Given the description of an element on the screen output the (x, y) to click on. 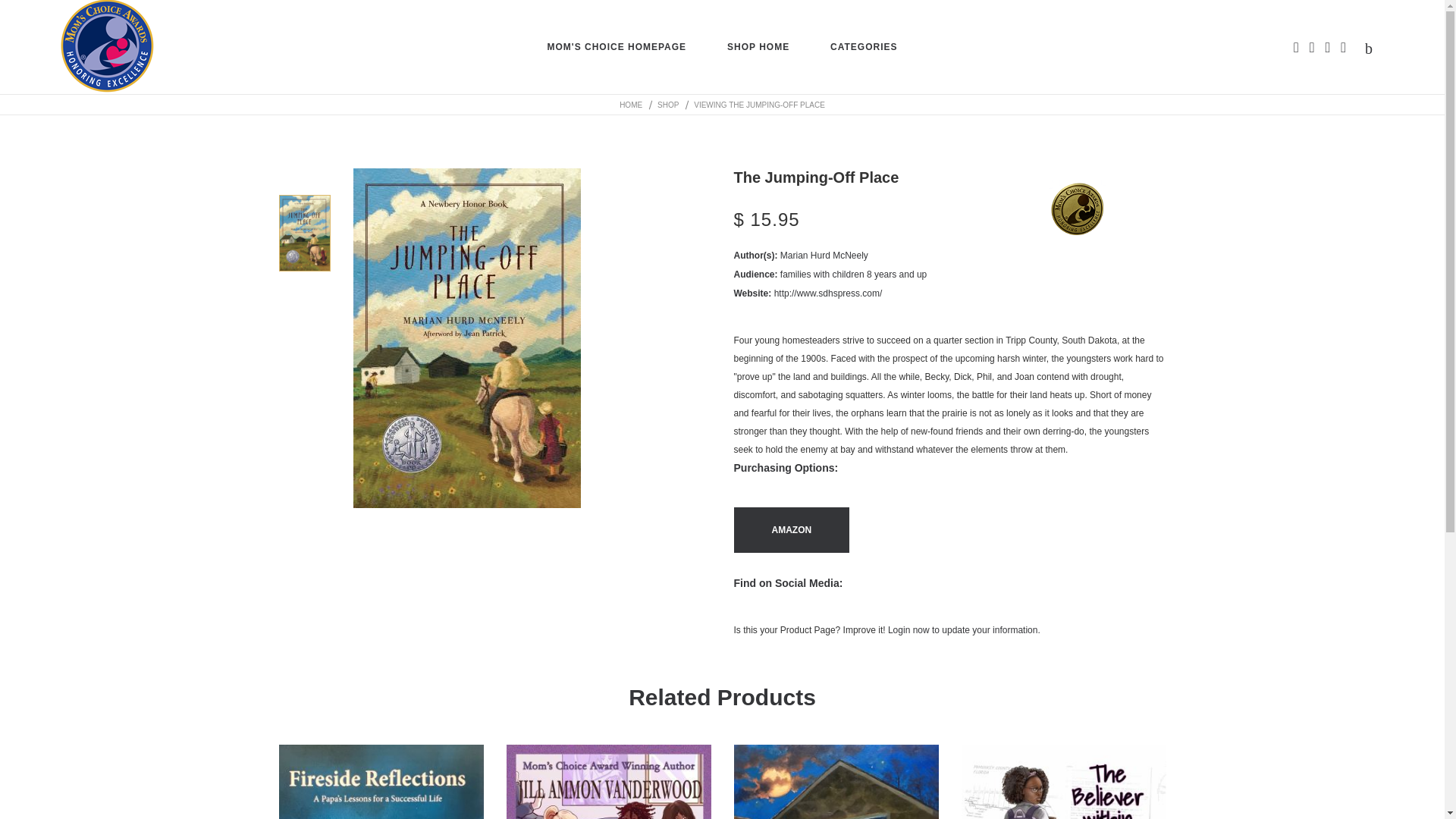
SHOP HOME (757, 46)
CATEGORIES (862, 46)
MCA Gold Award (1076, 208)
MOM'S CHOICE HOMEPAGE (615, 46)
